Given the description of an element on the screen output the (x, y) to click on. 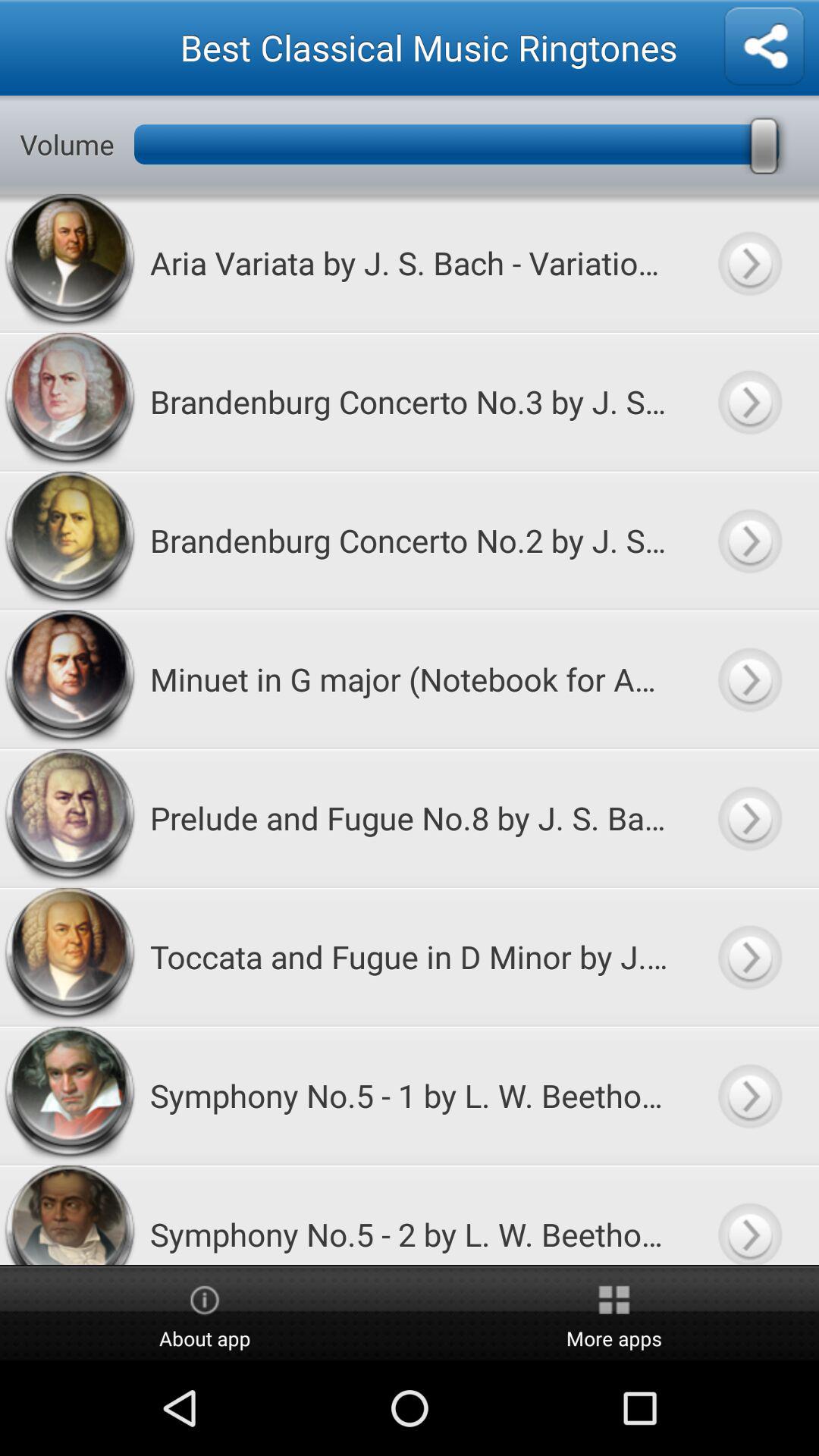
next (749, 1214)
